Given the description of an element on the screen output the (x, y) to click on. 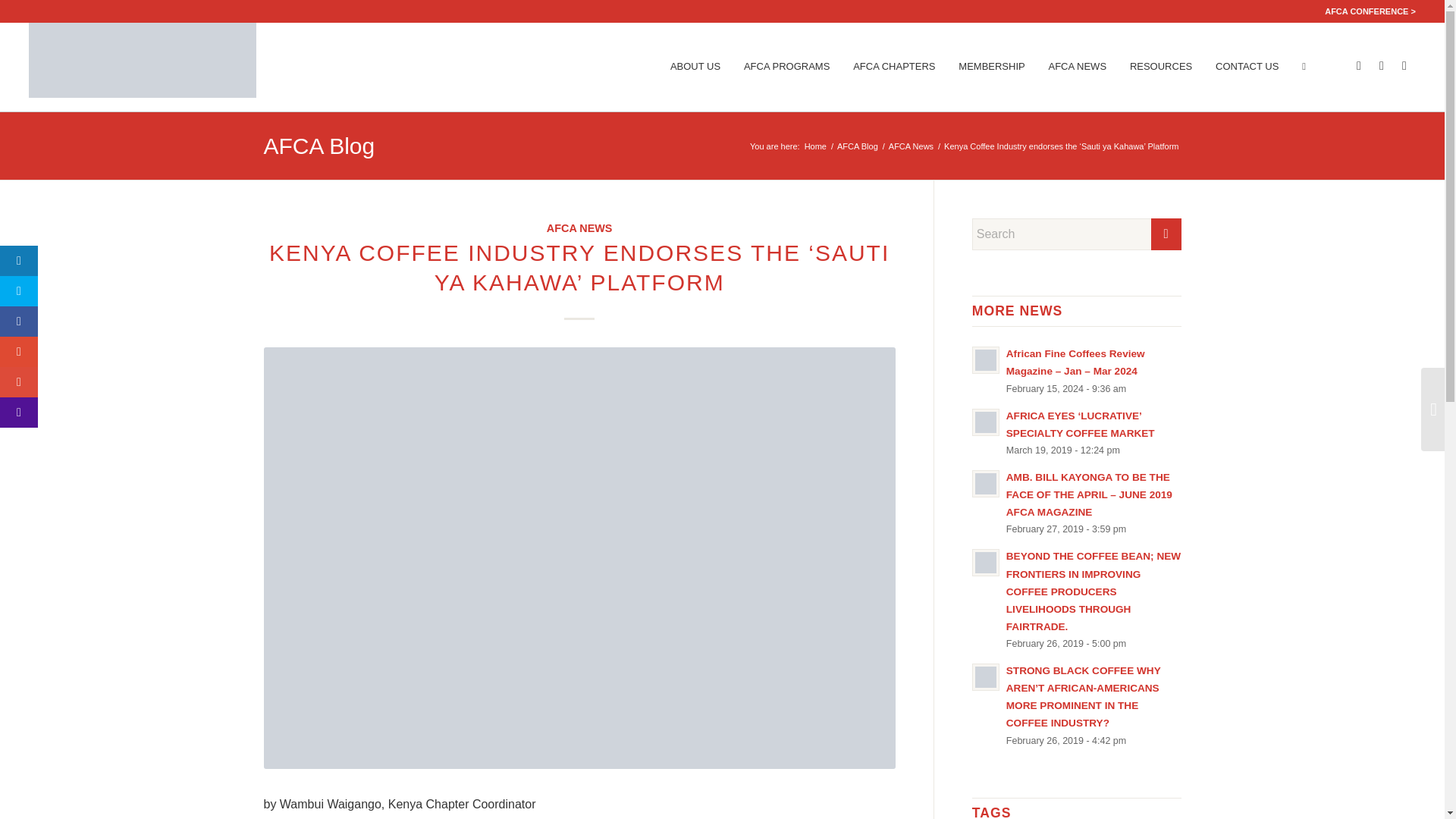
AFCA logo trans (142, 66)
LinkedIn (1381, 65)
X (1359, 65)
Click to start search (1165, 234)
AFCA CHAPTERS (893, 66)
AFCA logo trans (142, 59)
MEMBERSHIP (991, 66)
AFCA PROGRAMS (786, 66)
Instagram (1404, 65)
AFCA Blog (857, 146)
RESOURCES (1160, 66)
Permanent Link: AFCA Blog (319, 145)
